Given the description of an element on the screen output the (x, y) to click on. 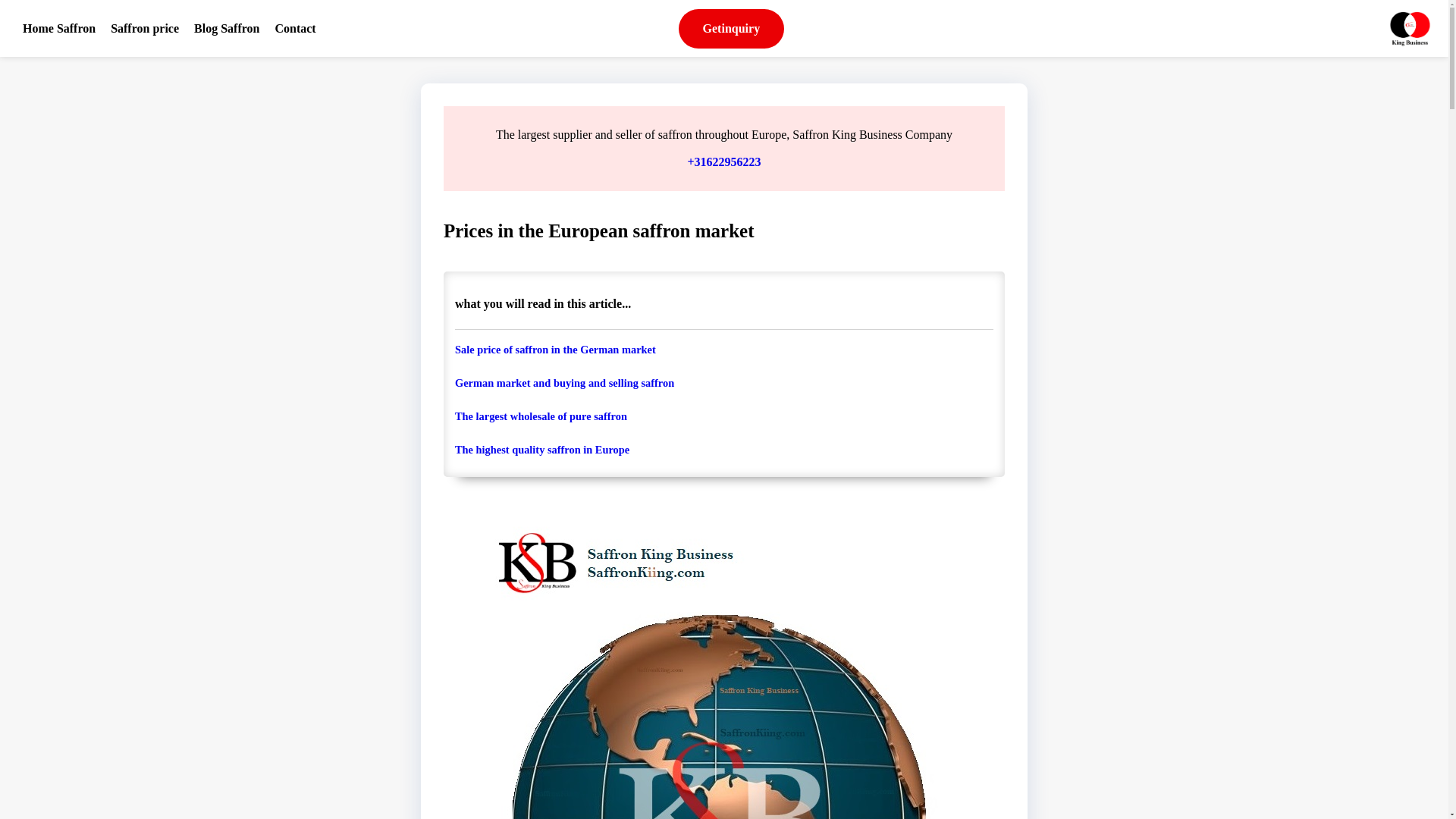
Saffron price (144, 27)
Contact (294, 27)
Home Saffron (58, 27)
Blog Saffron (226, 27)
German market and buying and selling saffron (723, 382)
The largest wholesale of pure saffron (723, 415)
The highest quality saffron in Europe (723, 449)
Sale price of saffron in the German market (723, 349)
Getinquiry (731, 28)
